Given the description of an element on the screen output the (x, y) to click on. 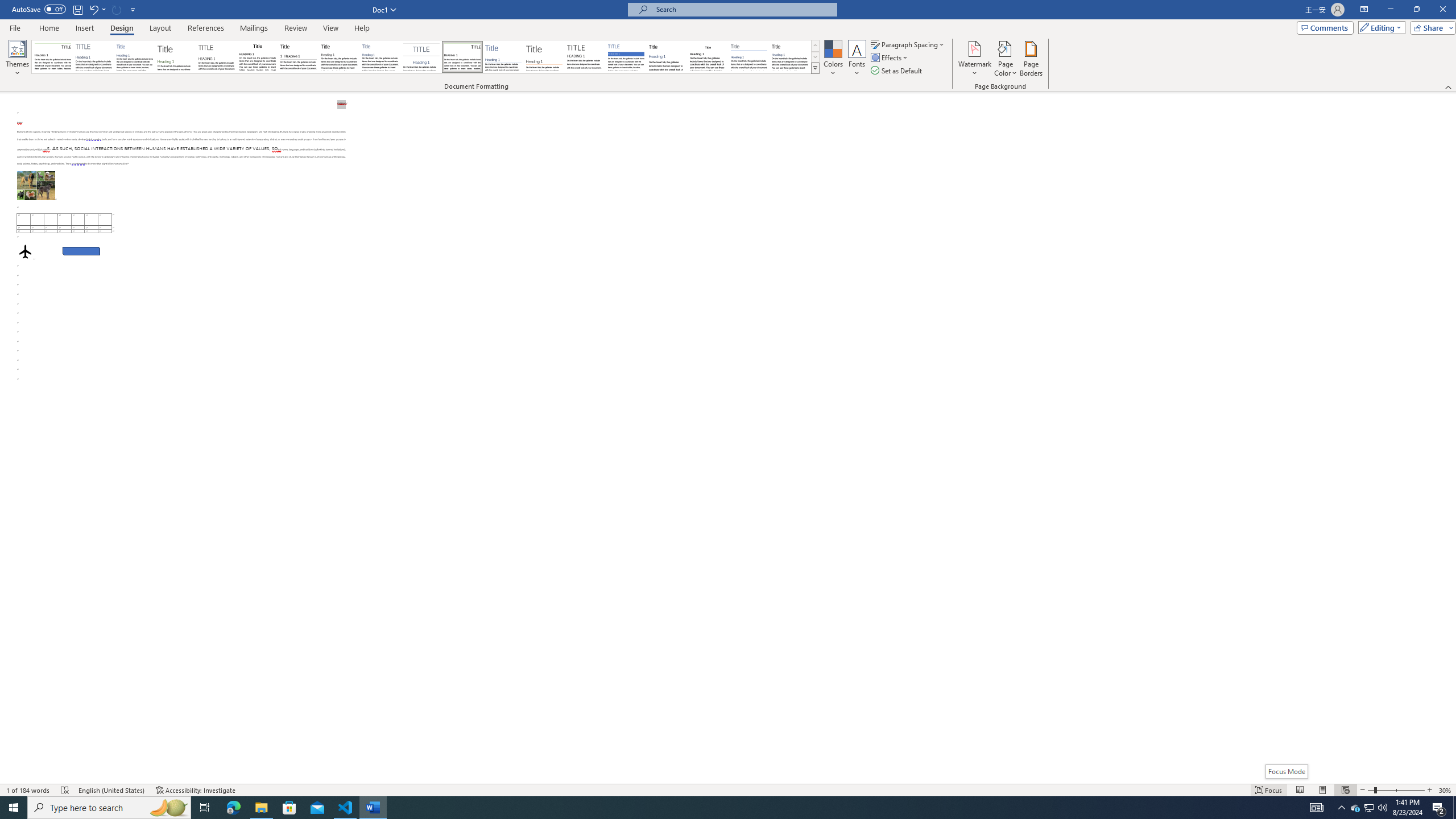
Centered (421, 56)
Casual (379, 56)
Page Borders... (1031, 58)
Colors (832, 58)
Black & White (Numbered) (298, 56)
Word Count 1 of 184 words (28, 790)
Undo Apply Quick Style Set (92, 9)
Set as Default (897, 69)
